Given the description of an element on the screen output the (x, y) to click on. 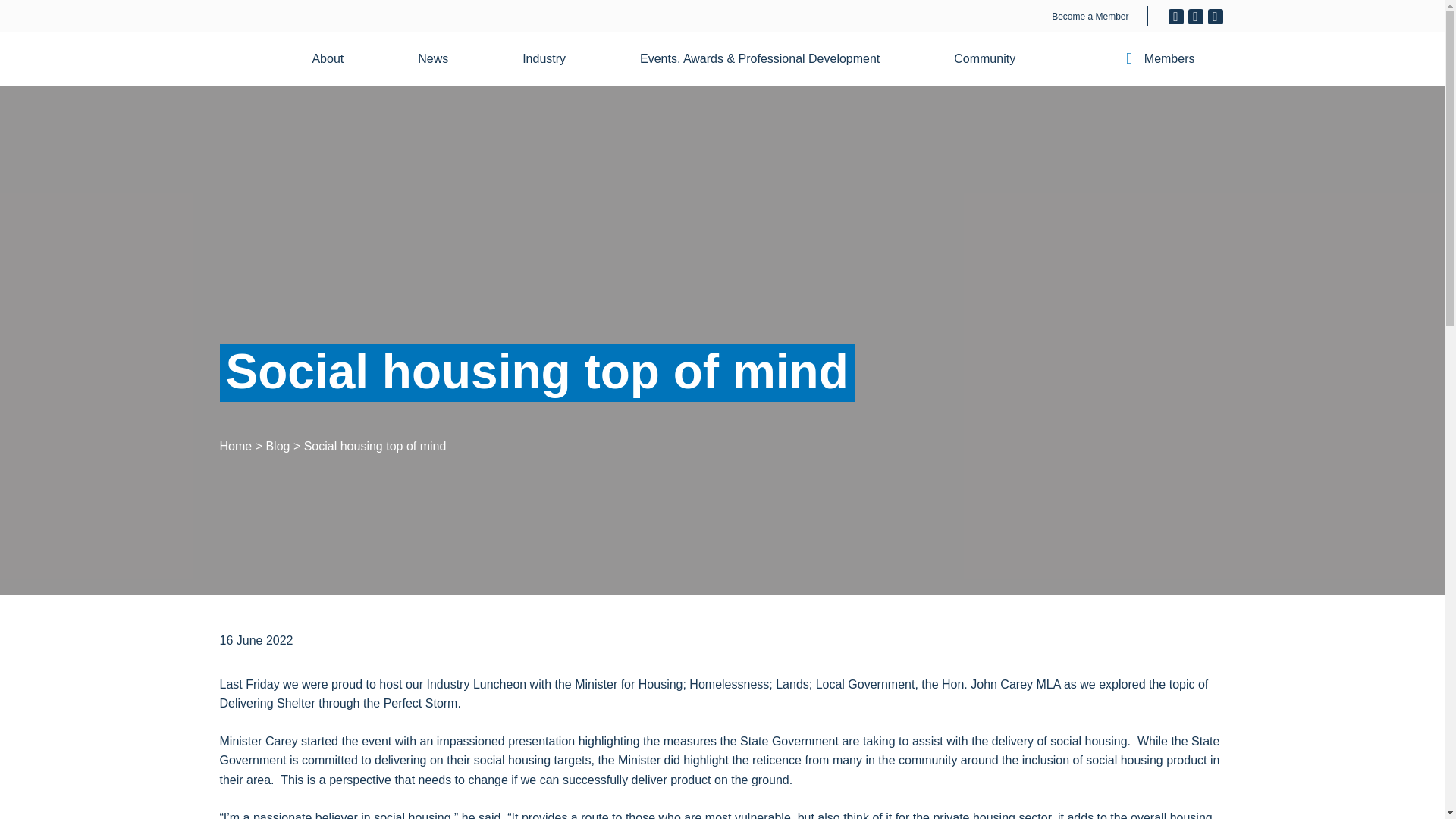
Industry (553, 59)
Logo (42, 43)
About (336, 59)
Become a Member (1089, 16)
News (442, 59)
